Given the description of an element on the screen output the (x, y) to click on. 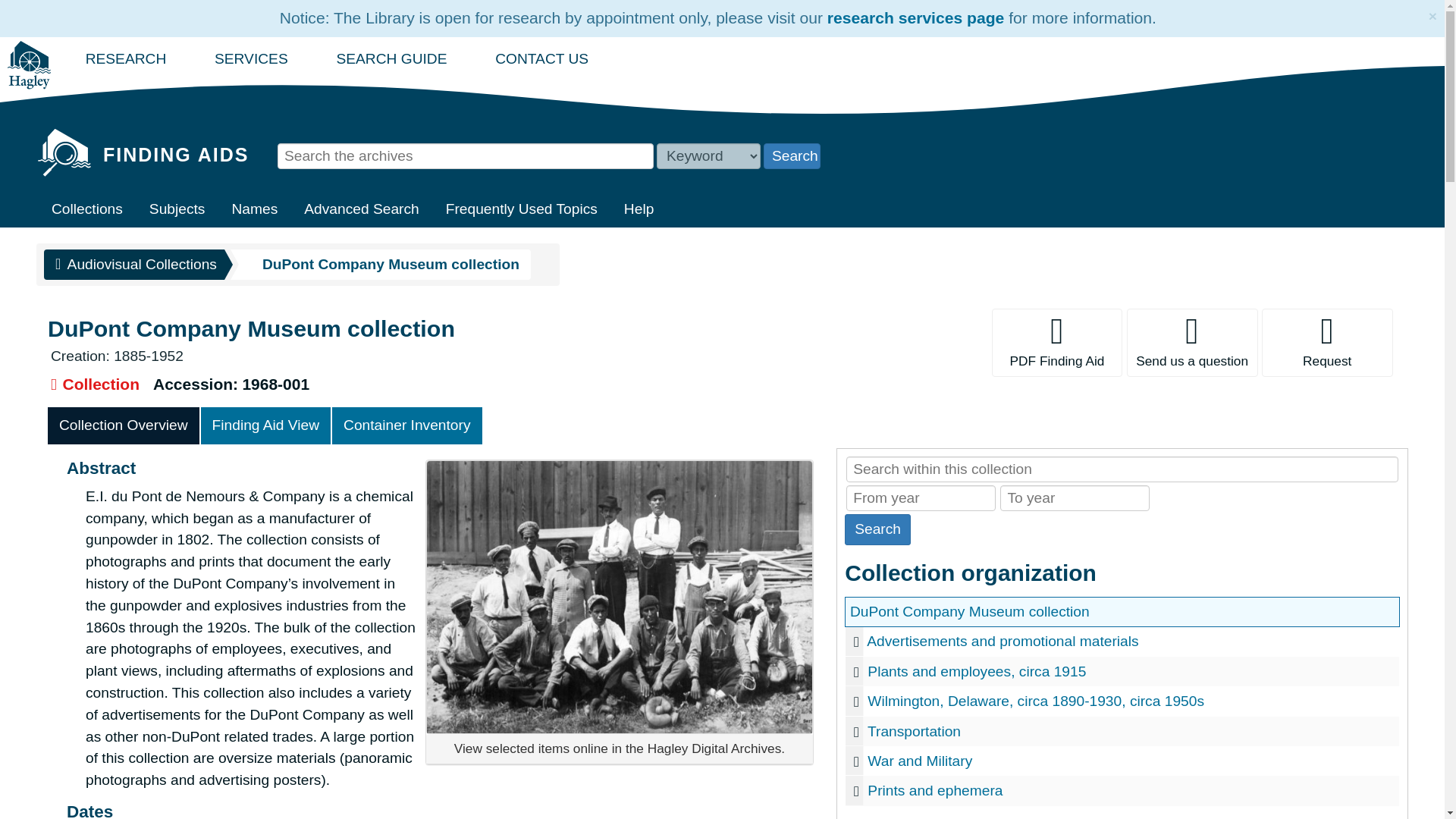
Wilmington, Delaware (1122, 700)
Page Actions (1121, 343)
Finding Aid View (265, 425)
Search (877, 529)
Audiovisual Collections (133, 264)
Names (253, 209)
Prints and ephemera (1122, 790)
Plants and employees (1122, 671)
Advertisements and promotional materials (1122, 641)
Send us a question (1191, 342)
